Given the description of an element on the screen output the (x, y) to click on. 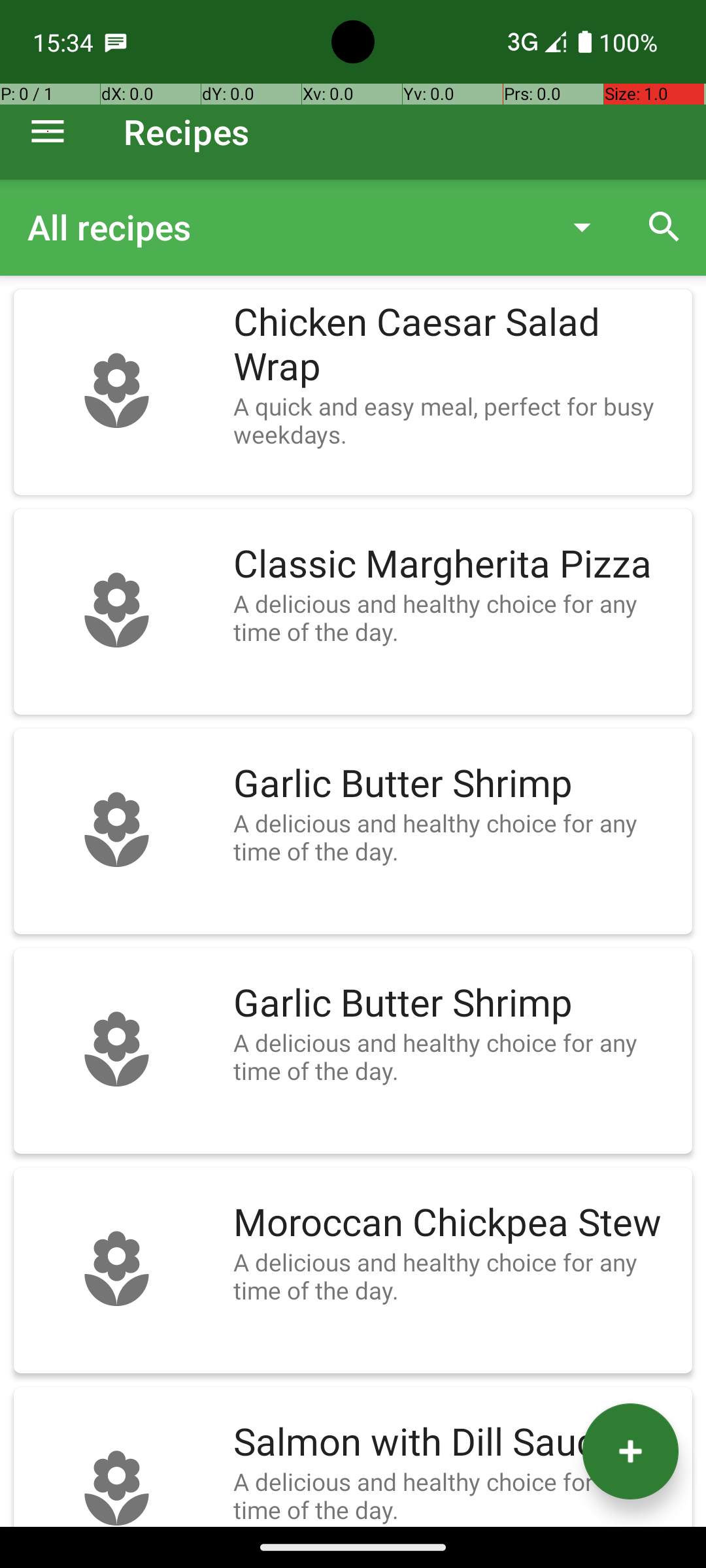
Chicken Caesar Salad Wrap Element type: android.widget.TextView (455, 344)
Garlic Butter Shrimp Element type: android.widget.TextView (455, 783)
Salmon with Dill Sauce Element type: android.widget.TextView (455, 1442)
